Given the description of an element on the screen output the (x, y) to click on. 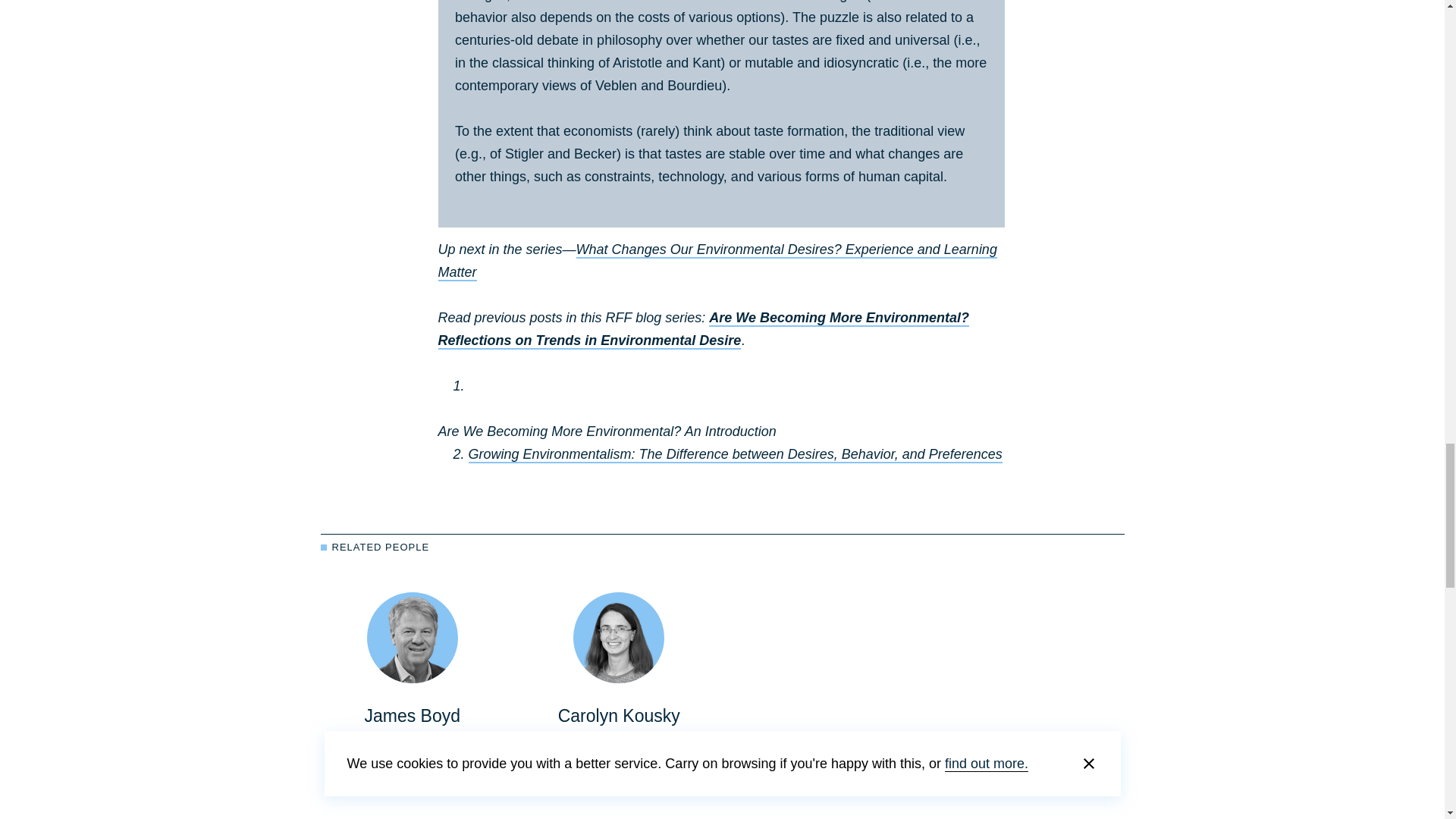
Are We Becoming More Environmental? An Introduction (607, 431)
